Given the description of an element on the screen output the (x, y) to click on. 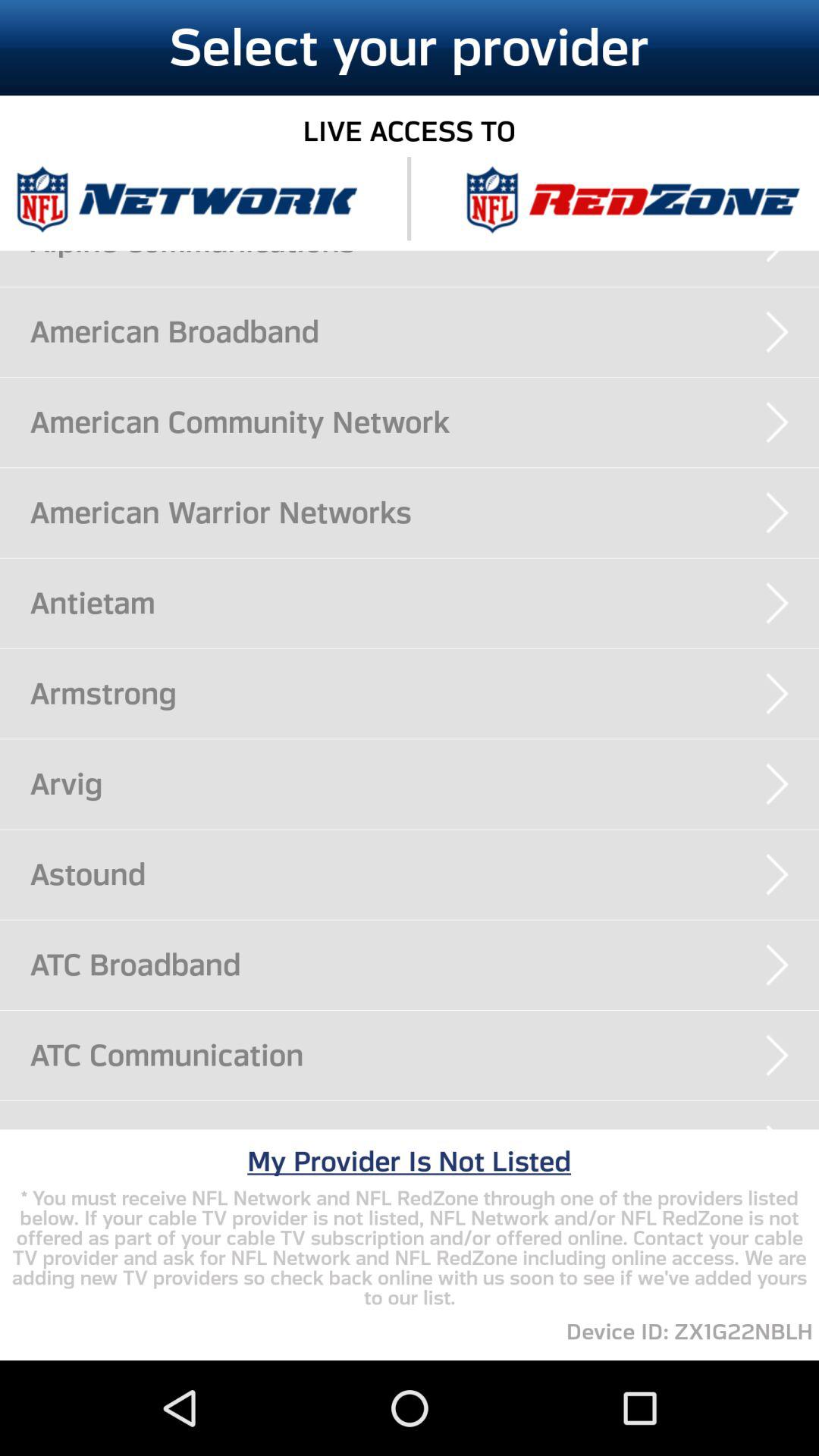
turn on american community network (424, 422)
